Given the description of an element on the screen output the (x, y) to click on. 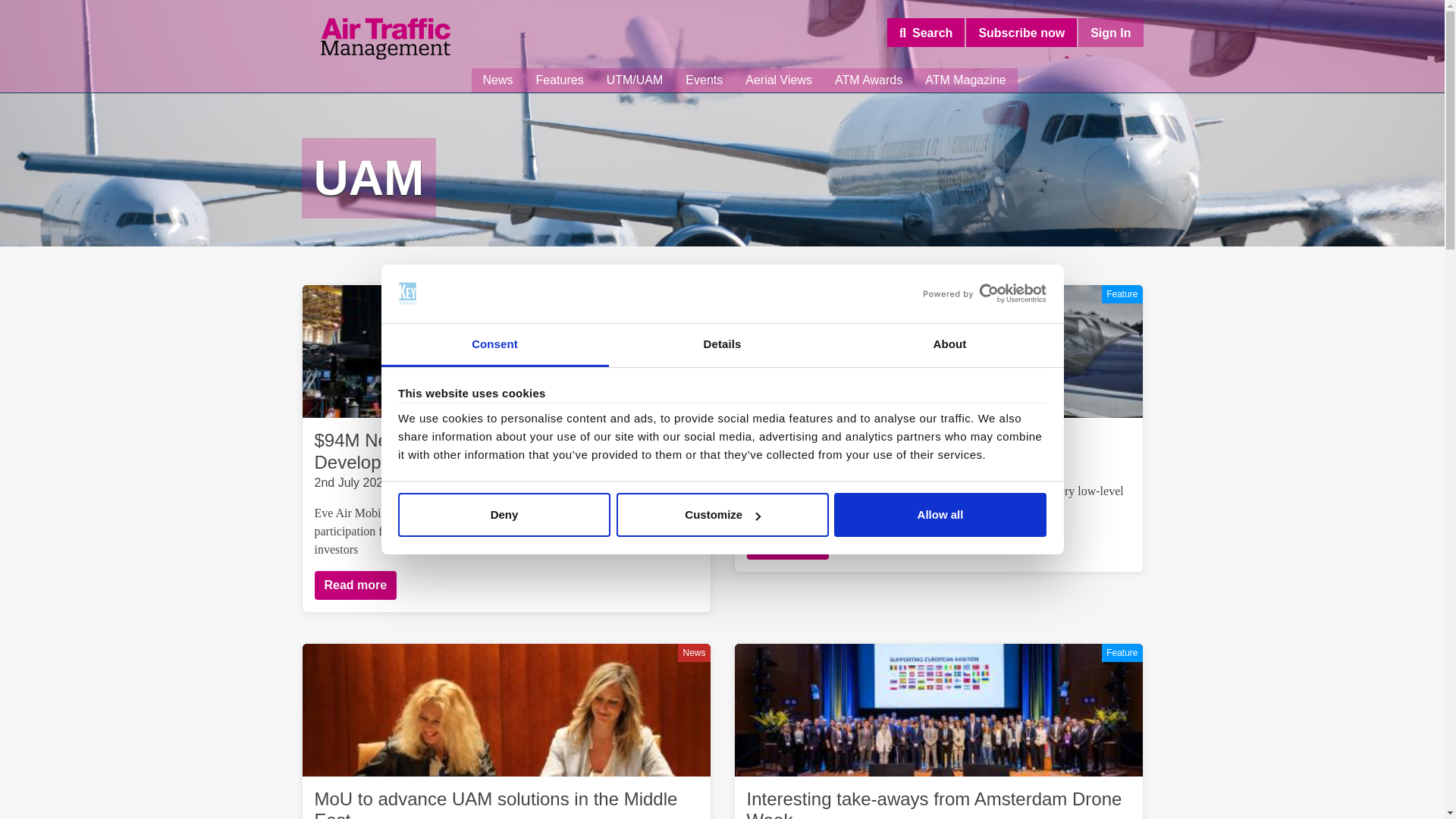
Home (384, 39)
Consent (494, 344)
About (948, 344)
Details (721, 344)
Sign into the site (1110, 32)
